Given the description of an element on the screen output the (x, y) to click on. 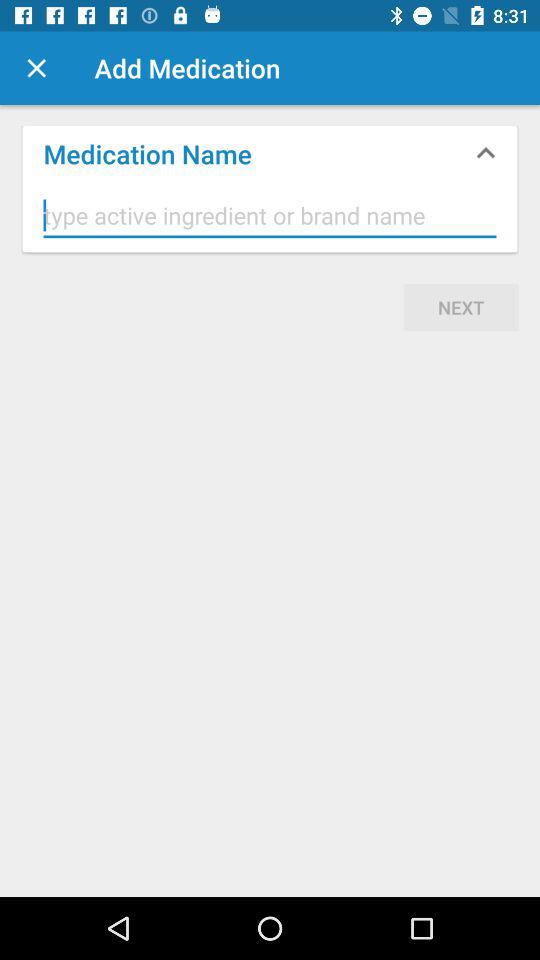
jump until next (461, 307)
